Given the description of an element on the screen output the (x, y) to click on. 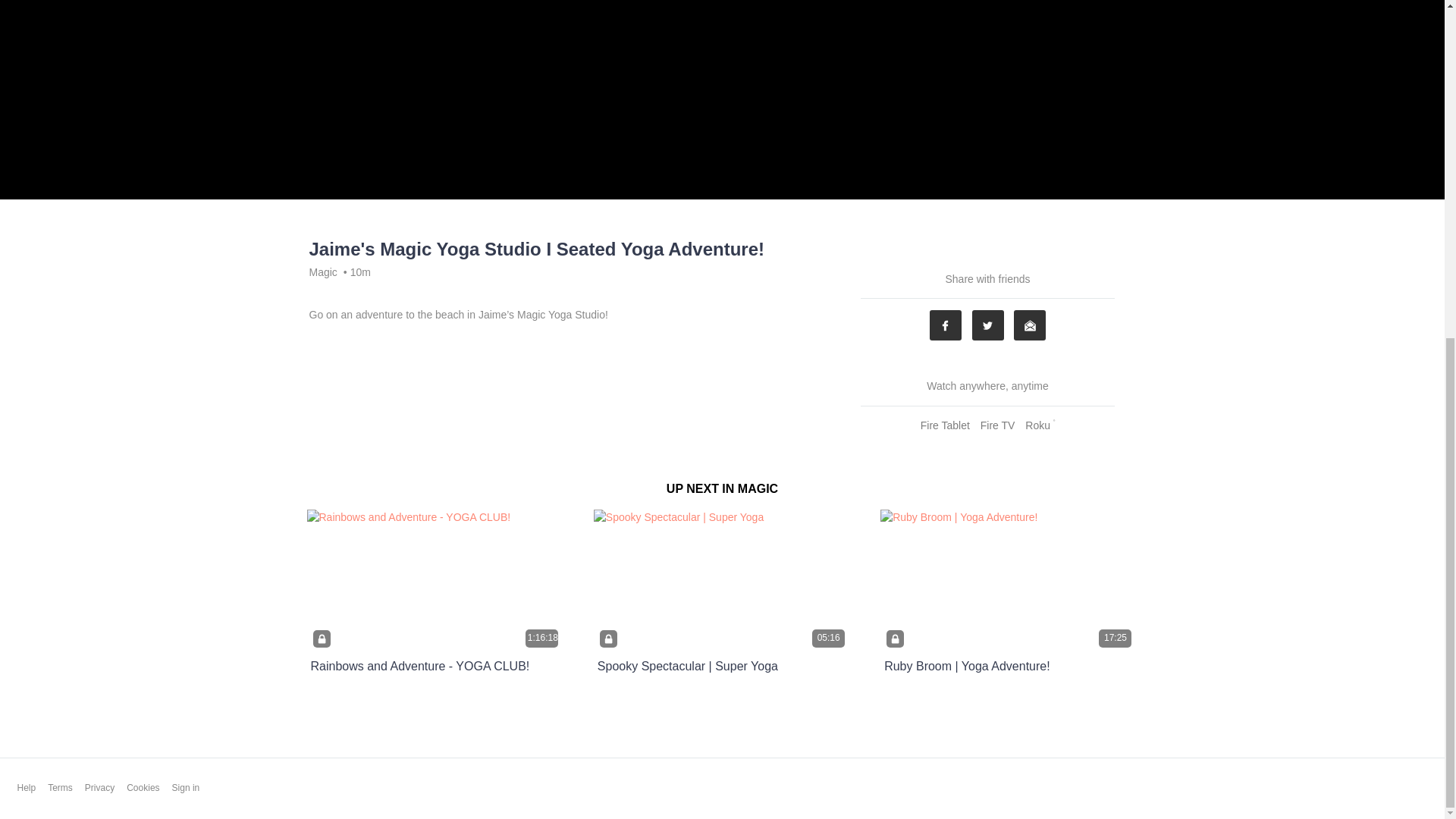
Terms (60, 788)
Fire TV (997, 425)
1:16:18 (434, 580)
Help (25, 788)
Rainbows and Adventure - YOGA CLUB! (420, 666)
Privacy (99, 788)
Fire Tablet (945, 425)
Email (1029, 325)
Facebook (945, 325)
Magic (322, 272)
Rainbows and Adventure - YOGA CLUB! (420, 666)
Sign in (185, 788)
17:25 (1008, 580)
MAGIC (757, 488)
05:16 (722, 580)
